Given the description of an element on the screen output the (x, y) to click on. 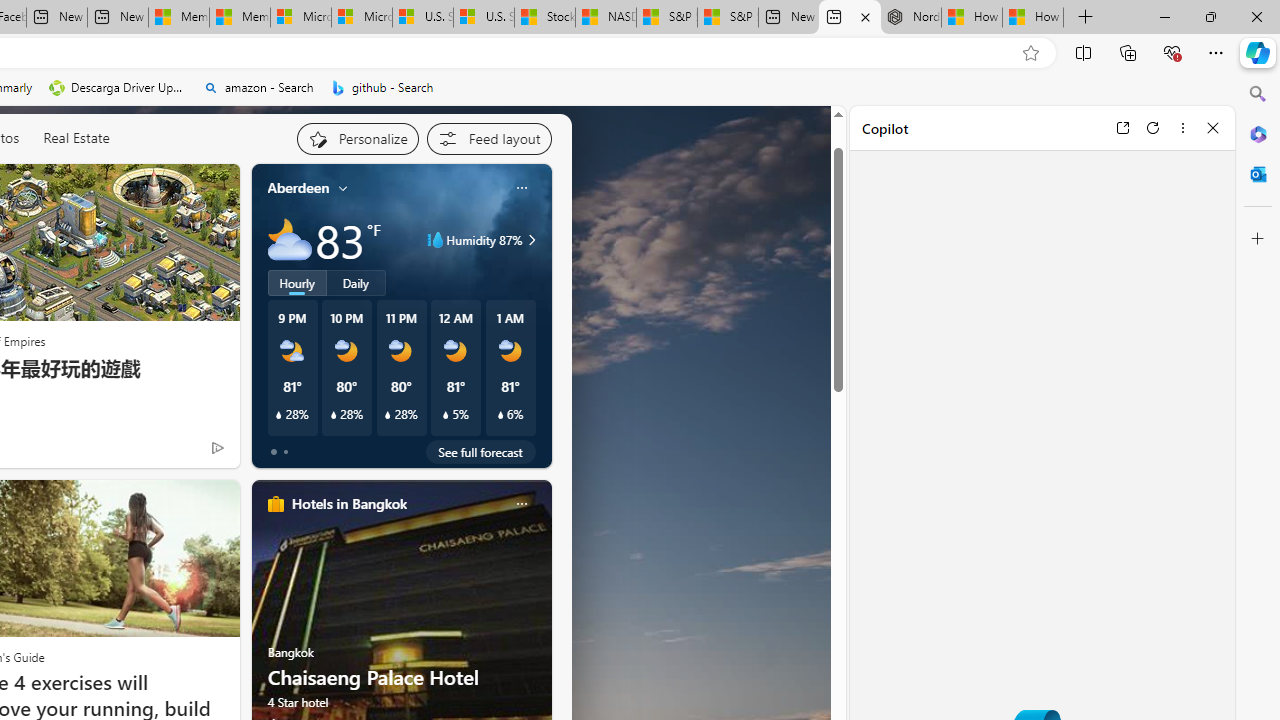
tab-1 (285, 451)
Class: weather-arrow-glyph (531, 240)
Real Estate (76, 137)
S&P 500, Nasdaq end lower, weighed by Nvidia dip | Watch (727, 17)
